Given the description of an element on the screen output the (x, y) to click on. 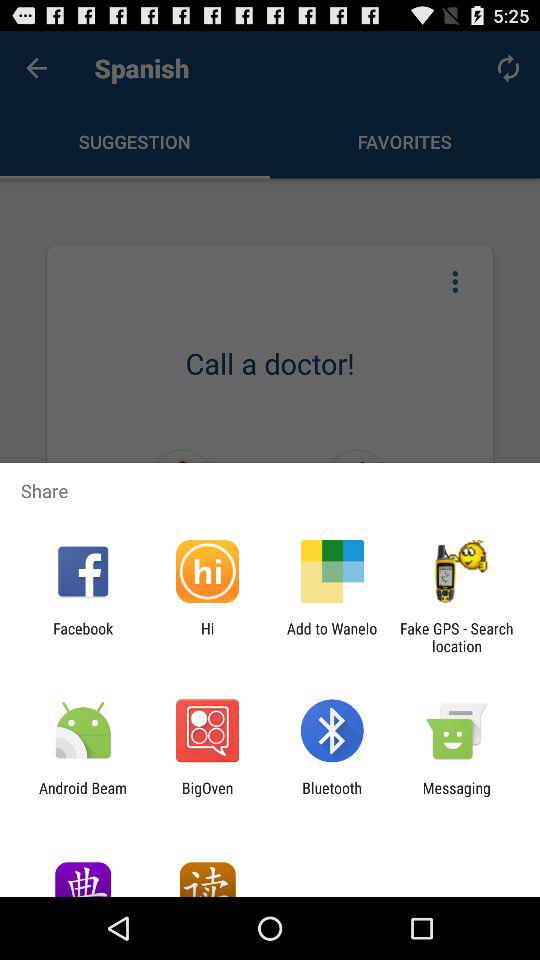
launch the bluetooth item (331, 796)
